Given the description of an element on the screen output the (x, y) to click on. 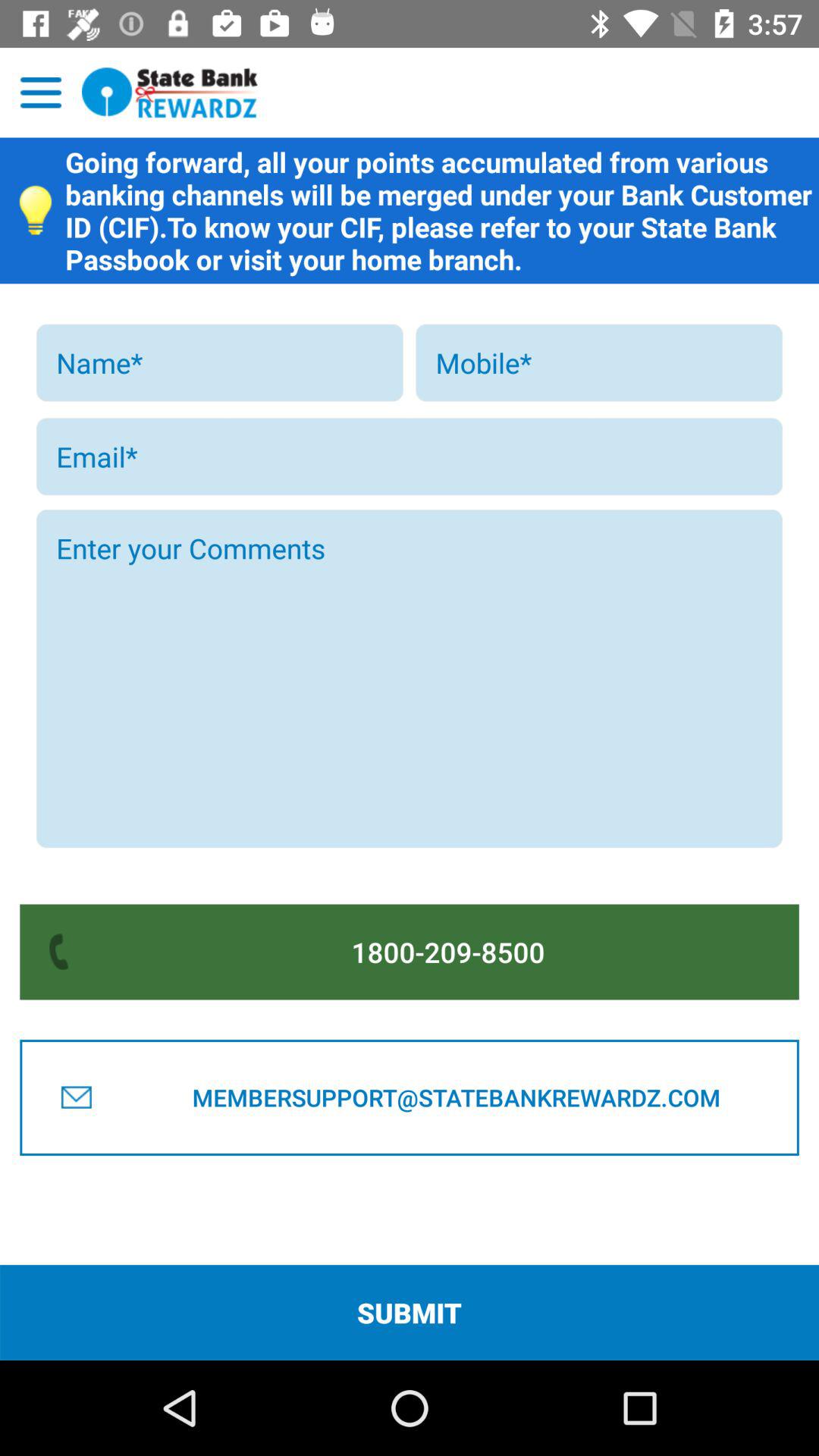
swipe to the membersupport@statebankrewardz.com (455, 1097)
